Given the description of an element on the screen output the (x, y) to click on. 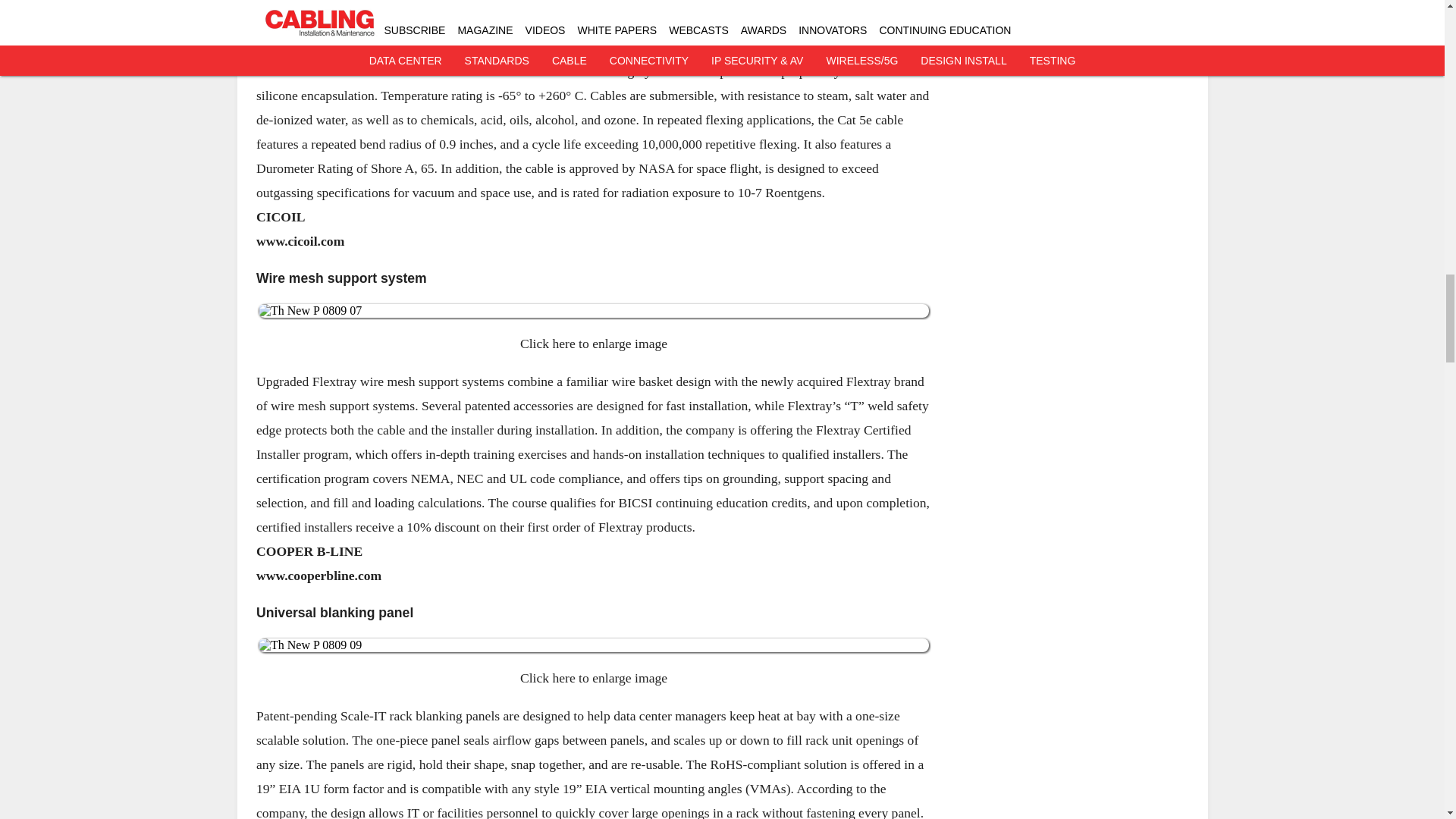
Th New P 0809 07 (592, 310)
Th New P 0809 09 (592, 644)
